Given the description of an element on the screen output the (x, y) to click on. 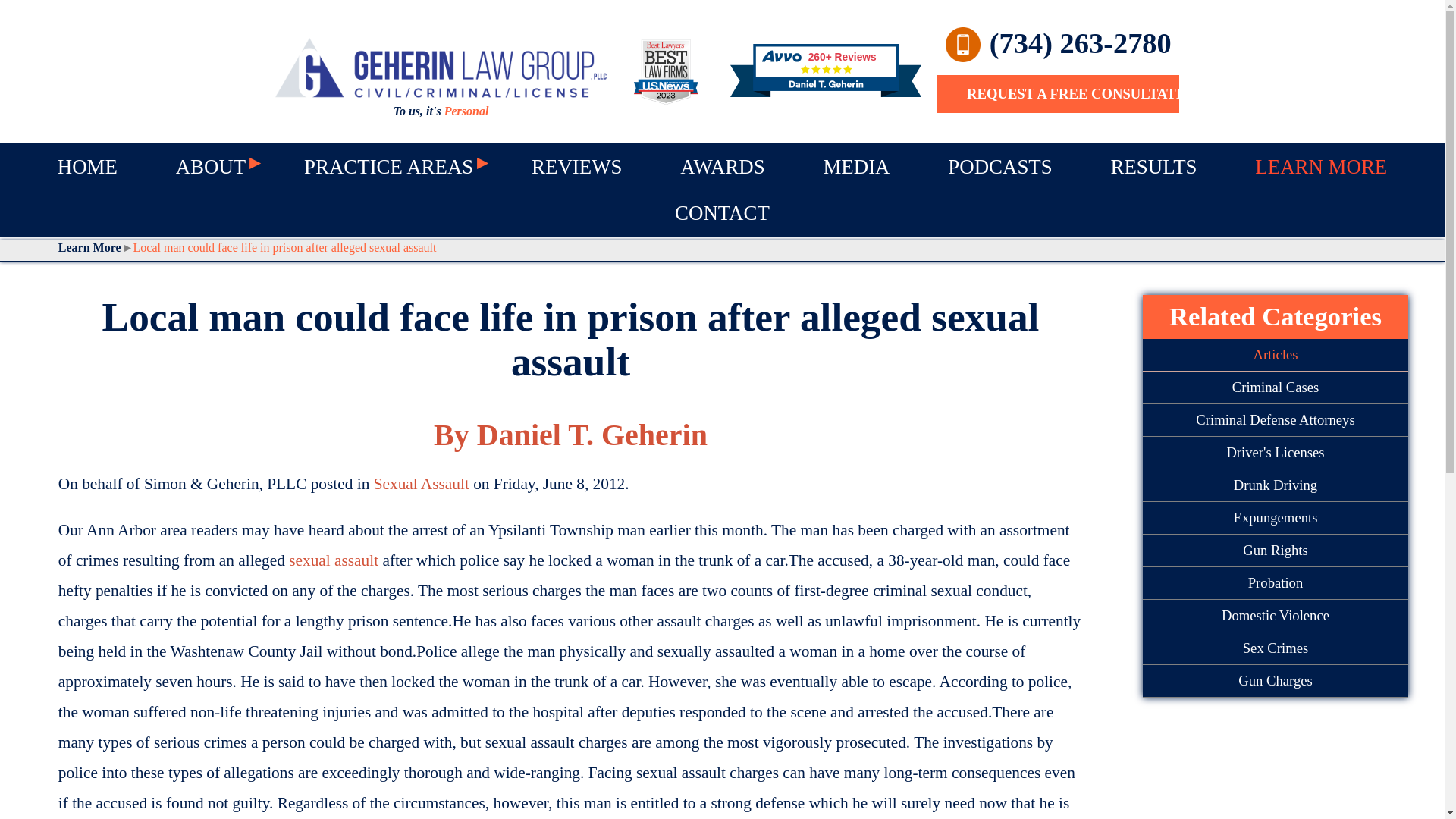
REVIEWS (576, 166)
AWARDS (721, 166)
REQUEST A FREE CONSULTATION (1057, 94)
Criminal Defense Attorneys (1274, 420)
ABOUT (211, 166)
Learn More (94, 247)
LEARN MORE (1320, 166)
Articles (1274, 355)
RESULTS (1153, 166)
HOME (87, 166)
PODCASTS (999, 166)
PRACTICE AREAS (388, 166)
Criminal Cases (1274, 387)
Best Law Firms - Standard Badge (665, 71)
